Given the description of an element on the screen output the (x, y) to click on. 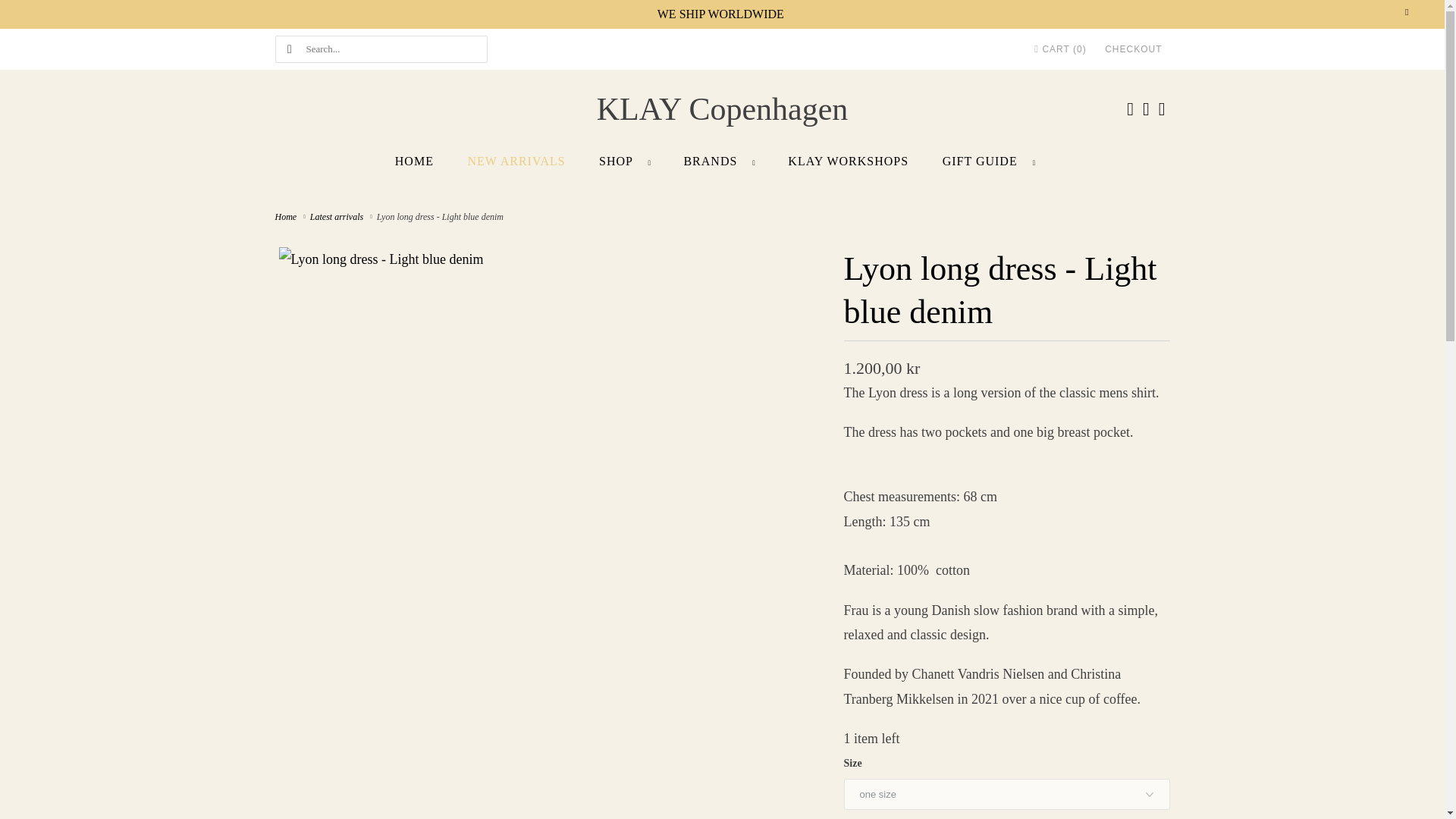
Latest arrivals (339, 216)
CHECKOUT (1133, 48)
KLAY Copenhagen (722, 109)
KLAY Copenhagen (288, 216)
KLAY Copenhagen (722, 109)
